Given the description of an element on the screen output the (x, y) to click on. 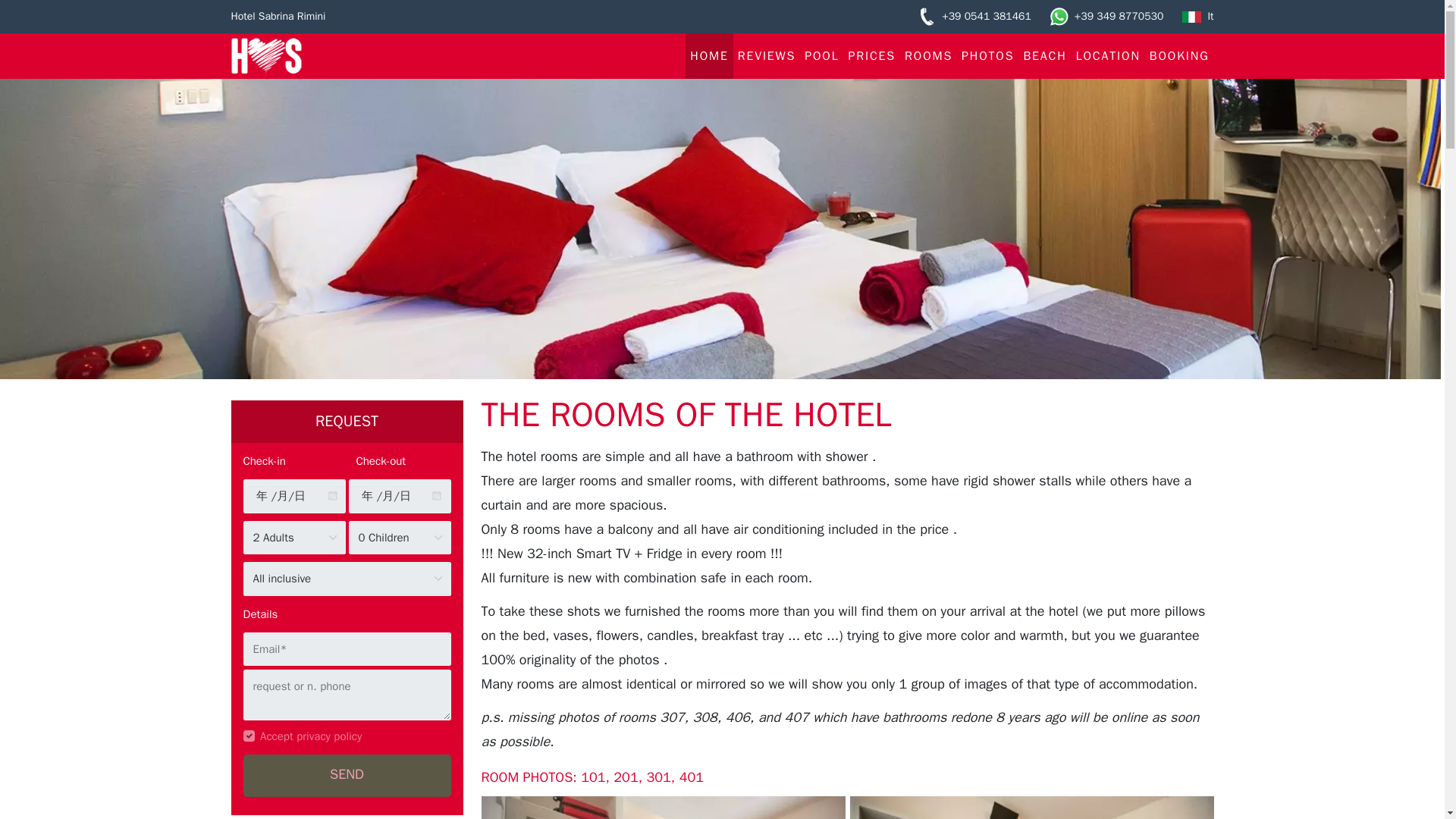
POOL (821, 55)
ROOMS (927, 55)
It (1197, 16)
HOME (708, 55)
Send (346, 775)
BOOKING (1179, 55)
REVIEWS (766, 55)
Send (346, 775)
PRICES (871, 55)
BEACH (1043, 55)
